Given the description of an element on the screen output the (x, y) to click on. 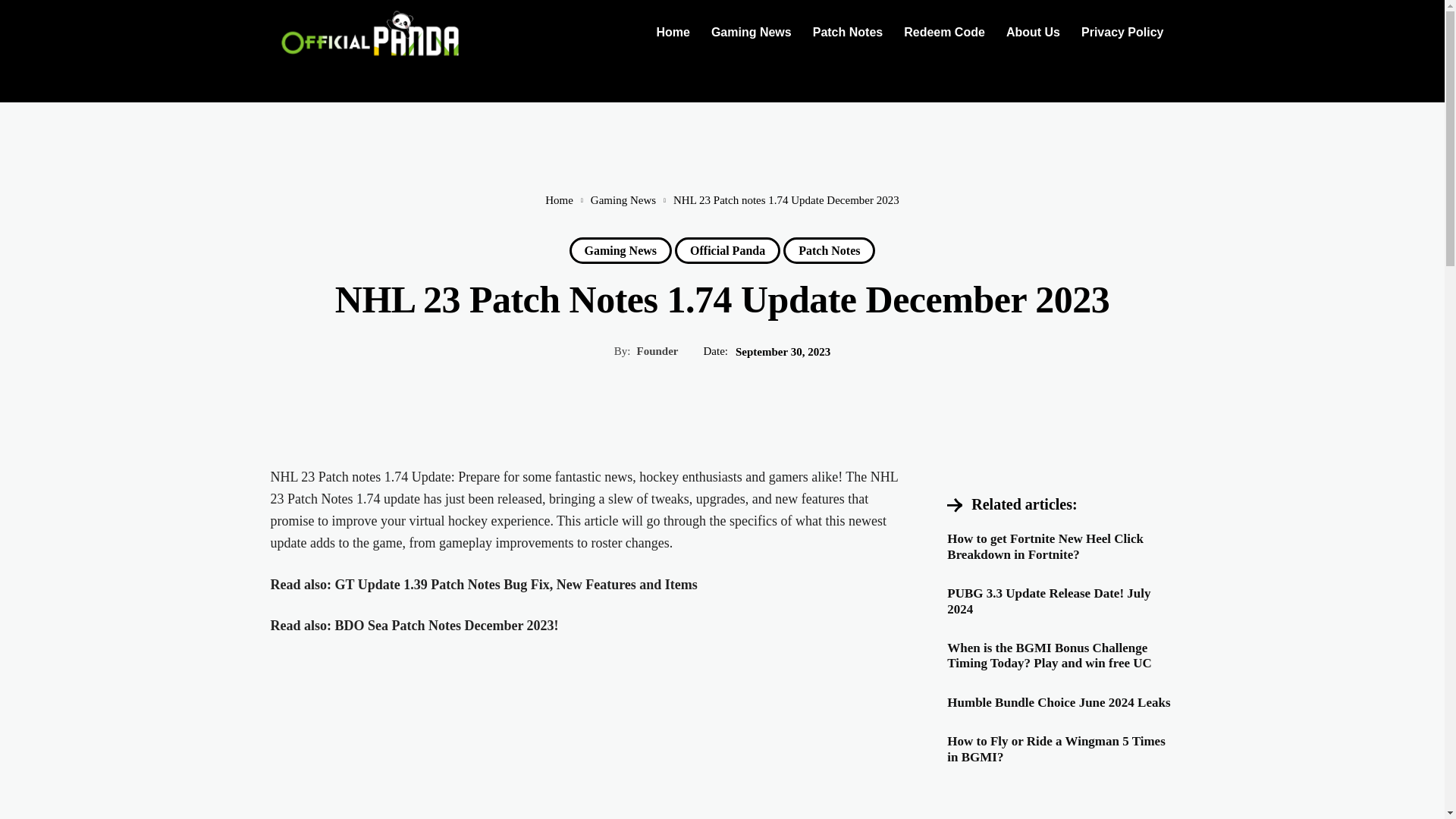
Patch Notes (847, 32)
Gaming News (620, 250)
Home (672, 32)
Founder (657, 350)
Home (558, 200)
Patch Notes (829, 250)
BDO Sea Patch Notes December 2023! (446, 625)
Gaming News (623, 200)
Home (672, 32)
Privacy Policy (1122, 32)
View all posts in Gaming News (623, 200)
Privacy Policy (1122, 32)
Gaming News (751, 32)
Redeem Code (944, 32)
Redeem Code (944, 32)
